Given the description of an element on the screen output the (x, y) to click on. 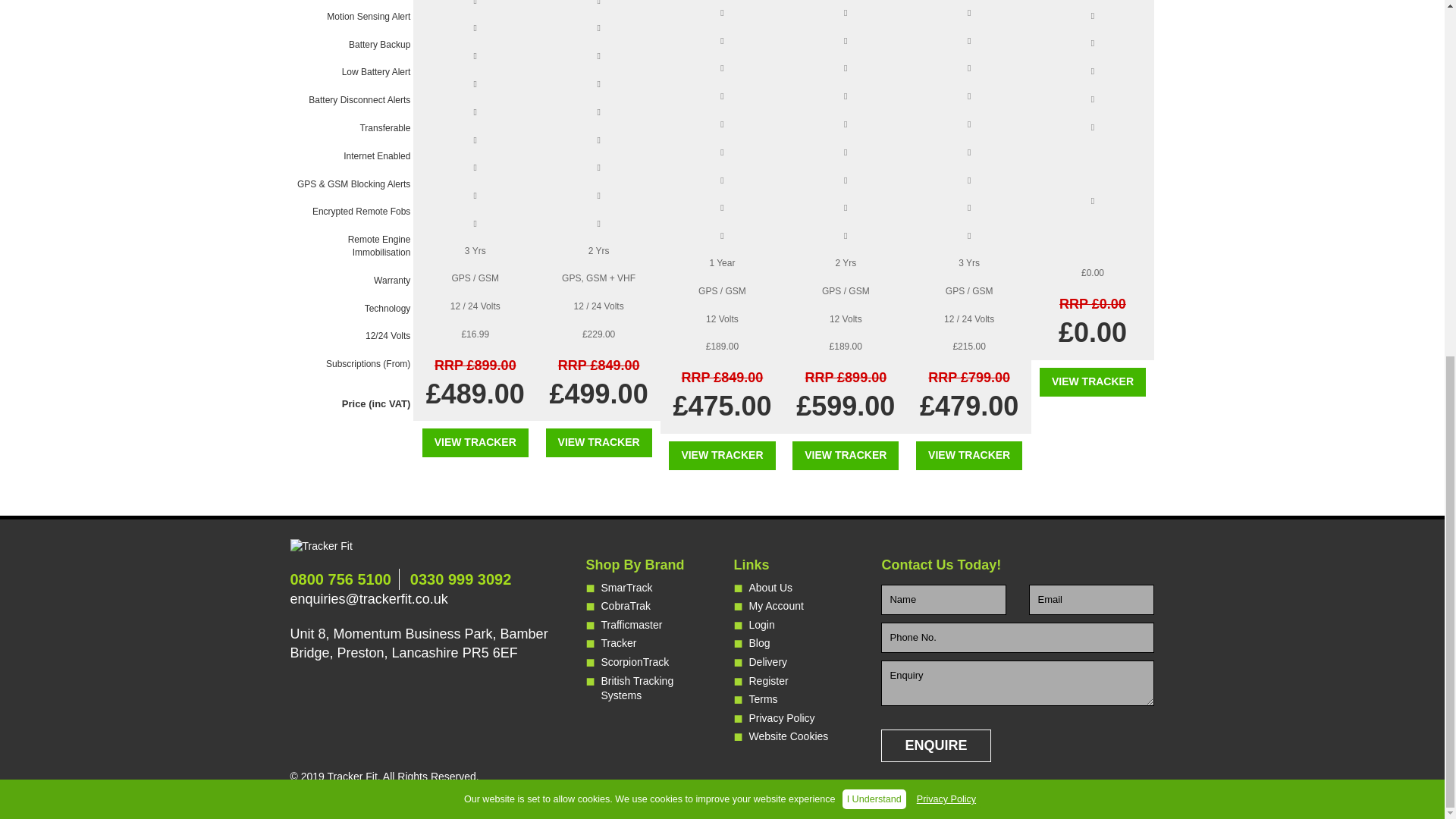
I Understand (874, 172)
Email (1091, 599)
Name (943, 599)
Privacy Policy (945, 172)
Phone No. (1017, 637)
